Given the description of an element on the screen output the (x, y) to click on. 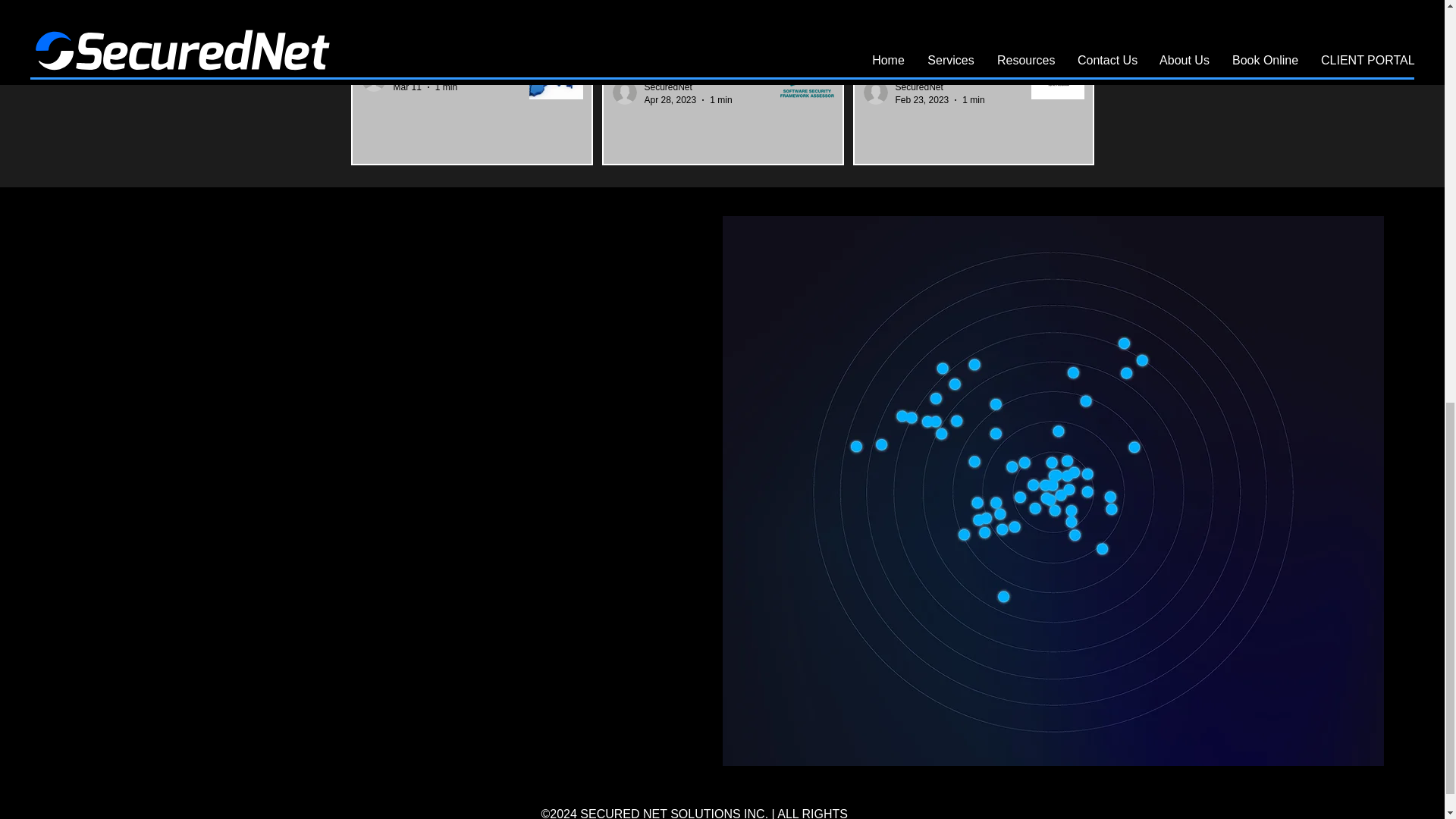
Feb 23, 2023 (922, 100)
PCI Assessments for Europe! (440, 56)
1 min (446, 86)
Apr 28, 2023 (671, 100)
SecuredNet (669, 86)
SecuredNet (688, 87)
SecuredNet (417, 73)
SecuredNet (939, 87)
SecuredNet (425, 74)
1 min (721, 100)
Mar 11 (406, 86)
1 min (973, 100)
SecuredNet (918, 86)
